Given the description of an element on the screen output the (x, y) to click on. 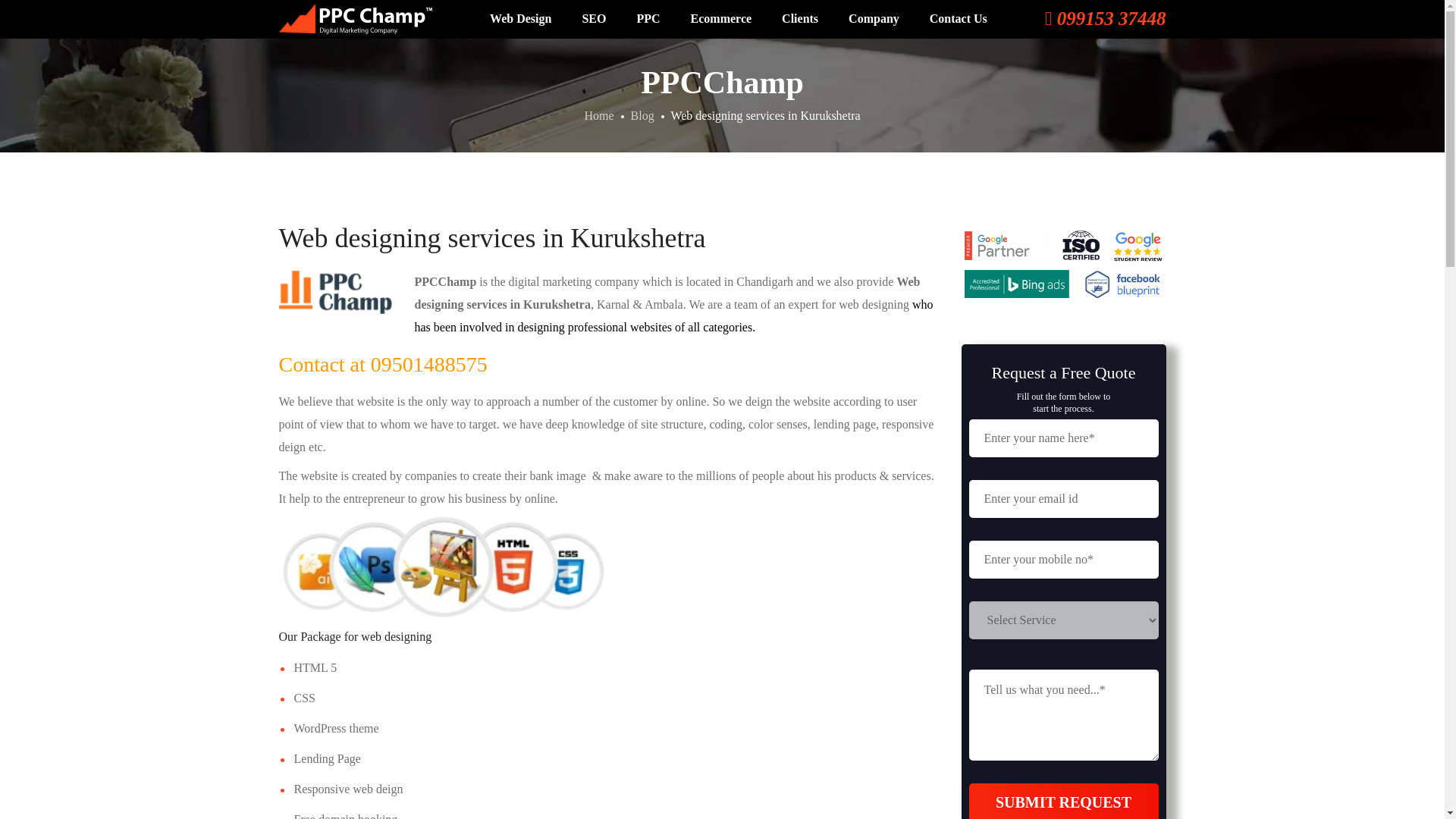
099153 37448 (1105, 22)
Blog (641, 115)
Submit Request (1063, 800)
SEO (593, 18)
PPC (648, 18)
Web Design (520, 18)
Company (873, 18)
Contact Us (958, 18)
Clients (799, 18)
Home (597, 115)
